Given the description of an element on the screen output the (x, y) to click on. 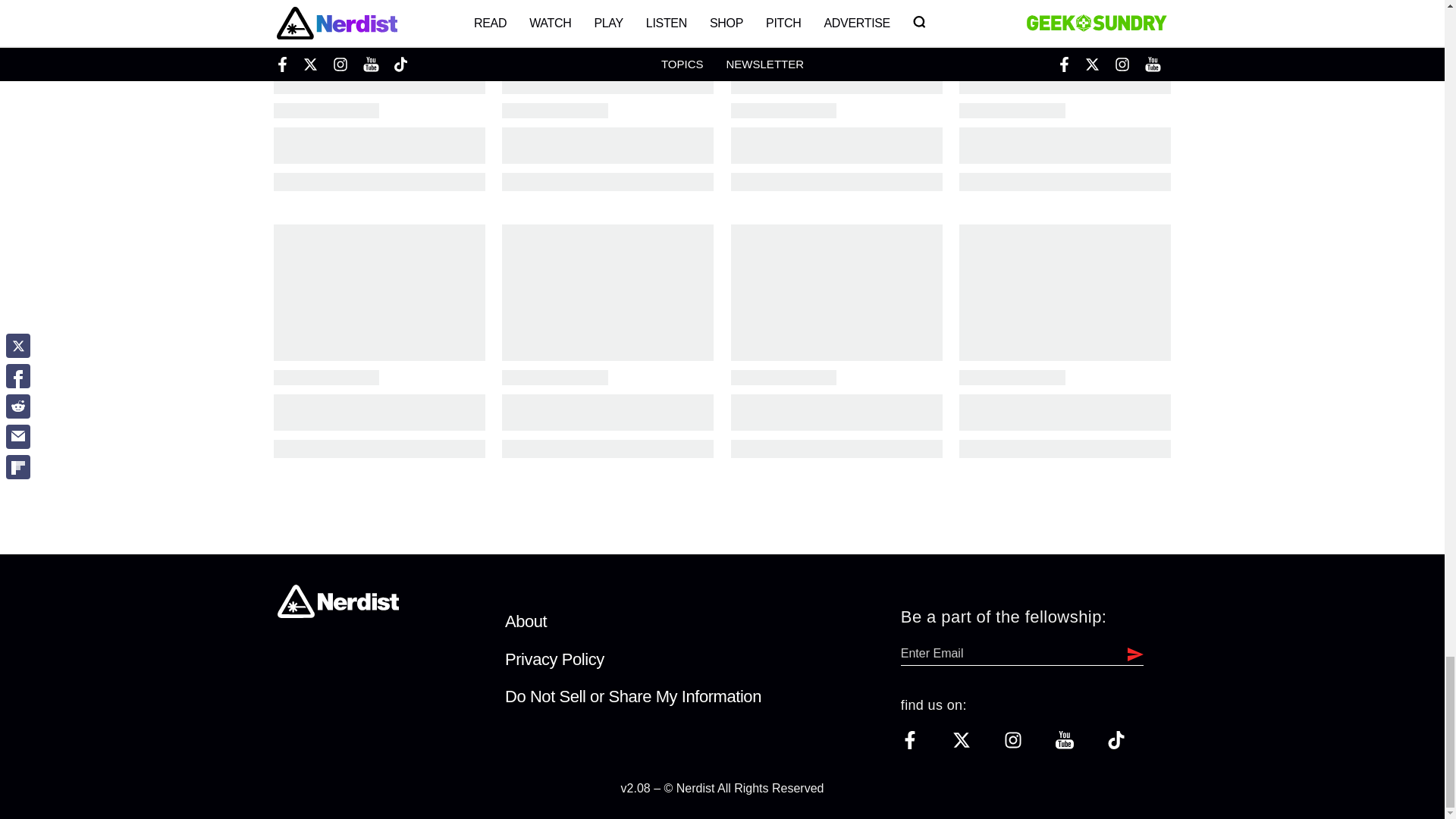
About (526, 620)
Privacy Policy (554, 659)
Sign Up (1131, 653)
Sign Up (1131, 653)
Do Not Sell or Share My Information (633, 696)
